Given the description of an element on the screen output the (x, y) to click on. 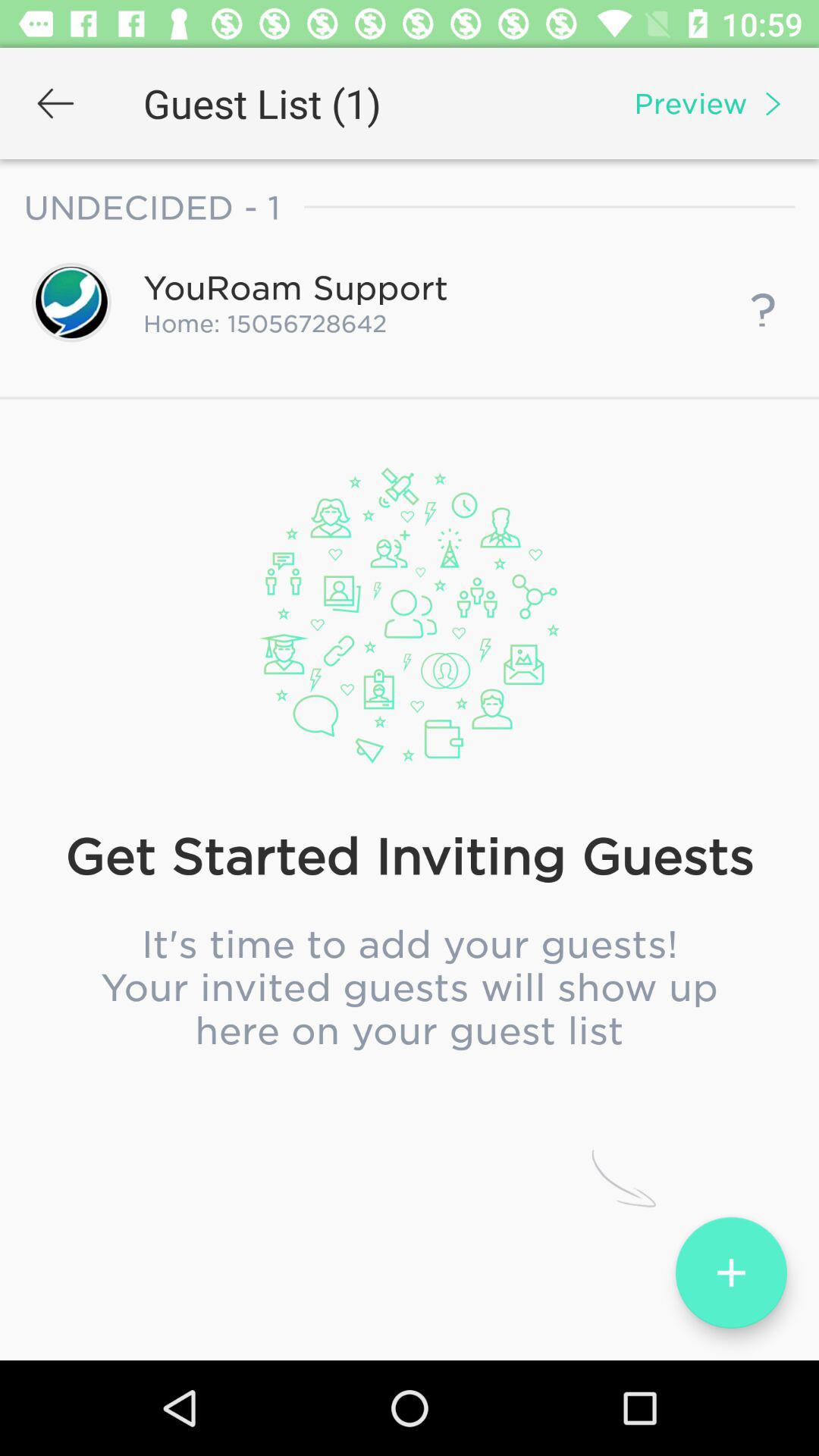
choose the item above undecided - 1 item (55, 103)
